Given the description of an element on the screen output the (x, y) to click on. 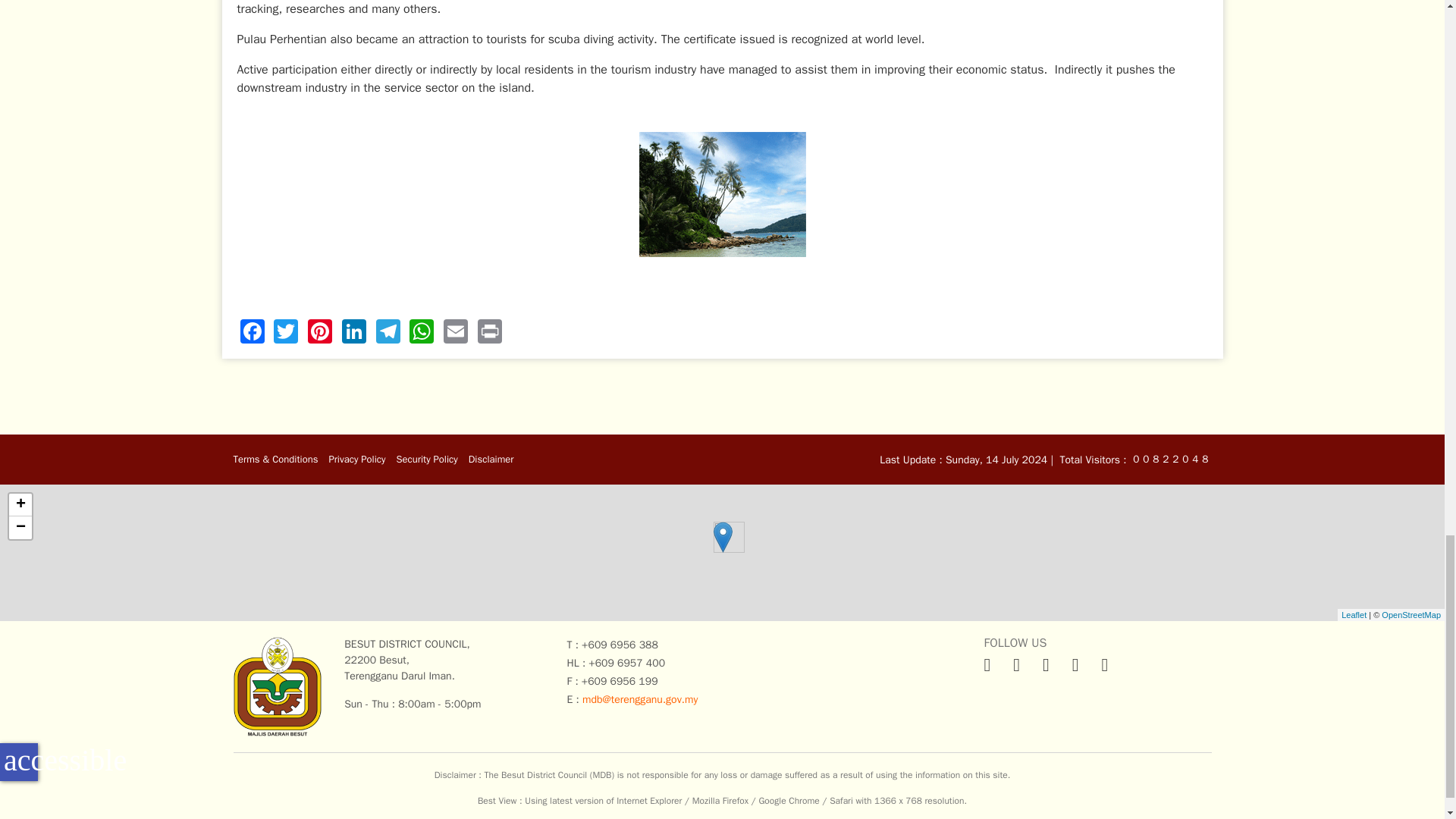
822,048 Visits (1163, 457)
Icon group item (1074, 665)
822,048 Visits (1193, 457)
822,048 Visits (1134, 457)
A JS library for interactive maps (1353, 614)
822,048 Visits (1174, 457)
822,048 Visits (1203, 457)
Zoom in (20, 504)
Icon group item (987, 665)
Zoom out (20, 527)
Icon group item (1045, 665)
Icon group item (1016, 665)
822,048 Visits (1154, 457)
822,048 Visits (1143, 457)
822,048 Visits (1182, 457)
